Given the description of an element on the screen output the (x, y) to click on. 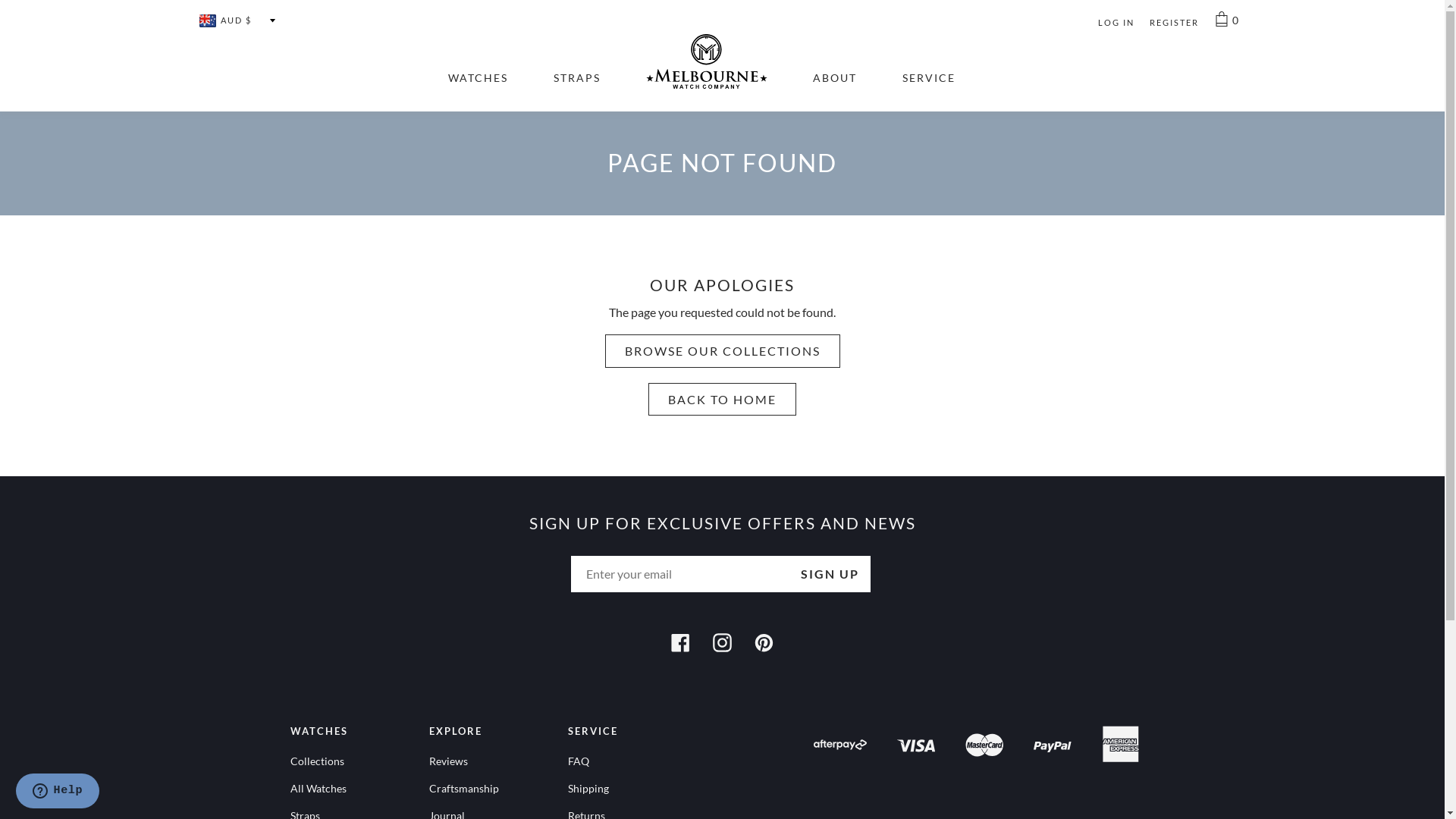
Sign up Element type: text (829, 573)
FAQ Element type: text (581, 760)
All Watches Element type: text (320, 788)
WATCHES Element type: text (477, 77)
0 Element type: text (1225, 20)
Shipping Element type: text (591, 788)
Pinterest Element type: text (763, 640)
Instagram Element type: text (722, 640)
BROWSE OUR COLLECTIONS Element type: text (722, 350)
Opens a widget where you can find more information Element type: hover (57, 792)
Craftsmanship Element type: text (467, 788)
Reviews Element type: text (451, 760)
ABOUT Element type: text (834, 77)
LOG IN Element type: text (1116, 22)
STRAPS Element type: text (576, 77)
SERVICE Element type: text (928, 77)
BACK TO HOME Element type: text (722, 399)
Collections Element type: text (319, 760)
Facebook Element type: text (680, 640)
REGISTER Element type: text (1174, 22)
